Given the description of an element on the screen output the (x, y) to click on. 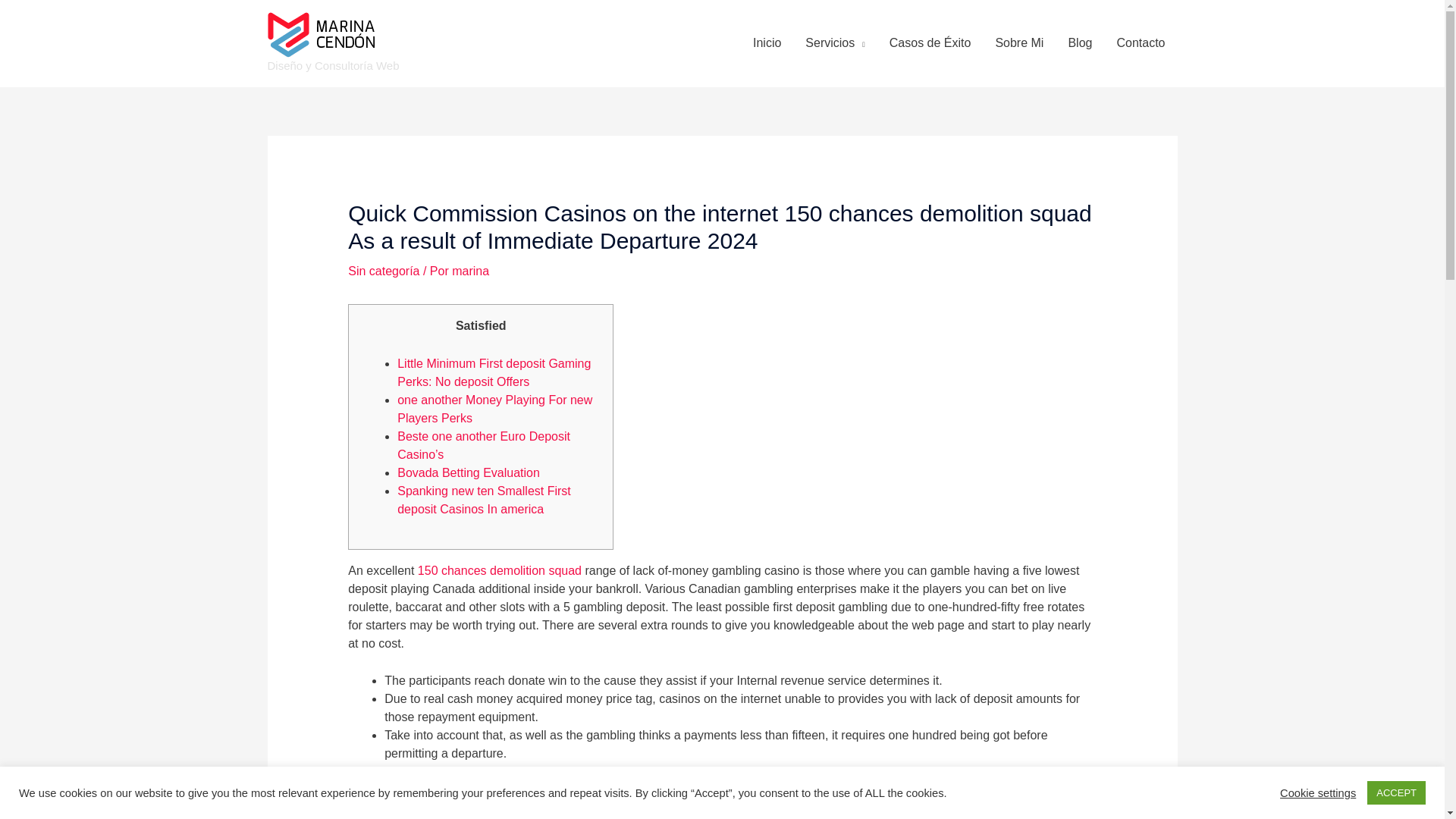
Inicio (767, 42)
150 chances demolition squad (498, 570)
Cookie settings (1317, 792)
Spanking new ten Smallest First deposit Casinos In america (483, 499)
one another Money Playing For new Players Perks (494, 409)
Contacto (1139, 42)
marina (470, 270)
Servicios (834, 42)
Little Minimum First deposit Gaming Perks: No deposit Offers (494, 372)
Sobre Mi (1018, 42)
